Given the description of an element on the screen output the (x, y) to click on. 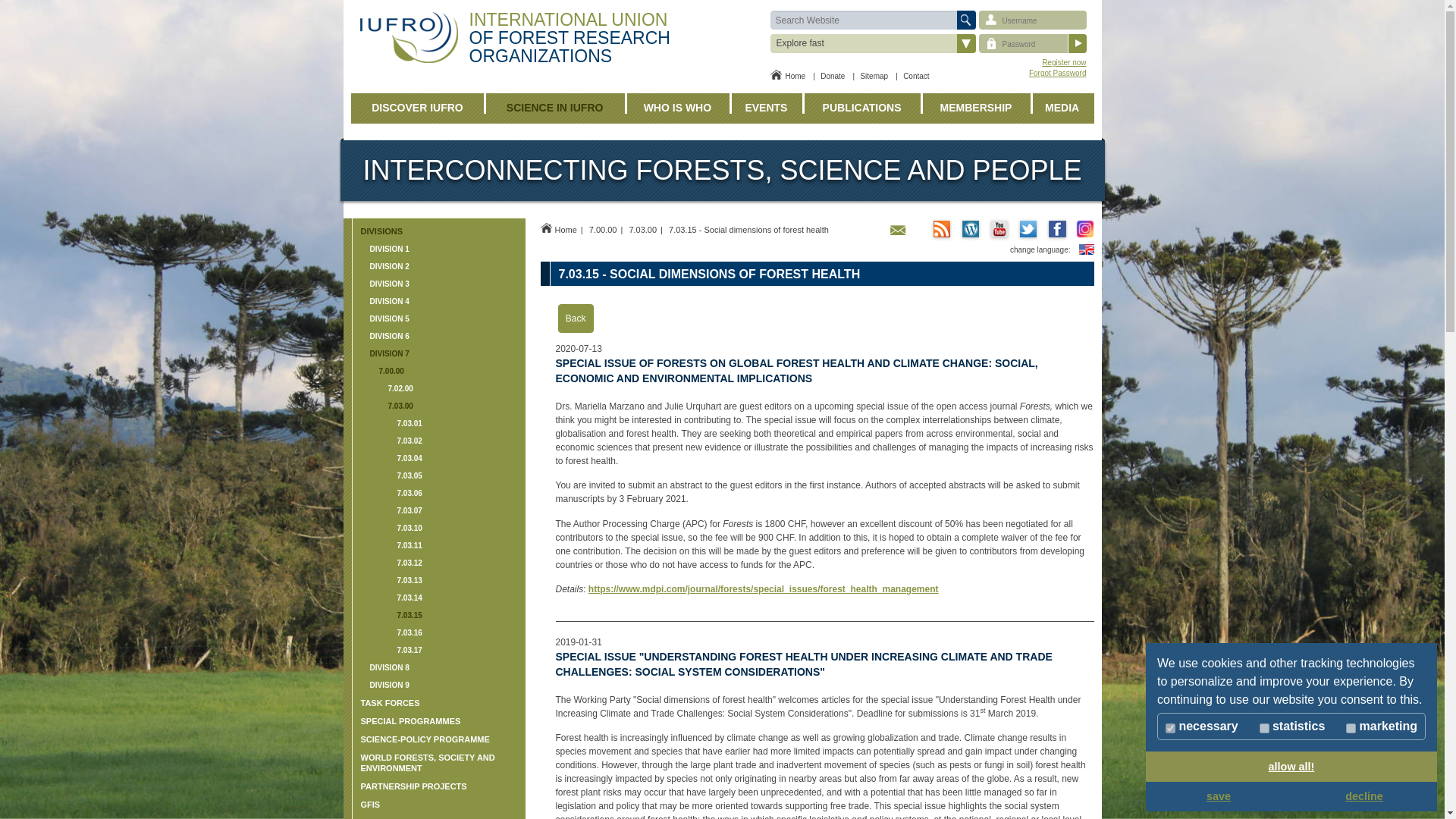
DISCOVER IUFRO (417, 108)
Login (1076, 43)
IUFRO (408, 37)
Donate (832, 76)
Send an E-Mail to IUFRO Headquarters (900, 235)
Home (788, 76)
Contact (915, 76)
7.00.00 - Forest Health (603, 229)
SCIENCE IN IUFRO (555, 108)
IUFRO Youtube Channel (998, 229)
